Given the description of an element on the screen output the (x, y) to click on. 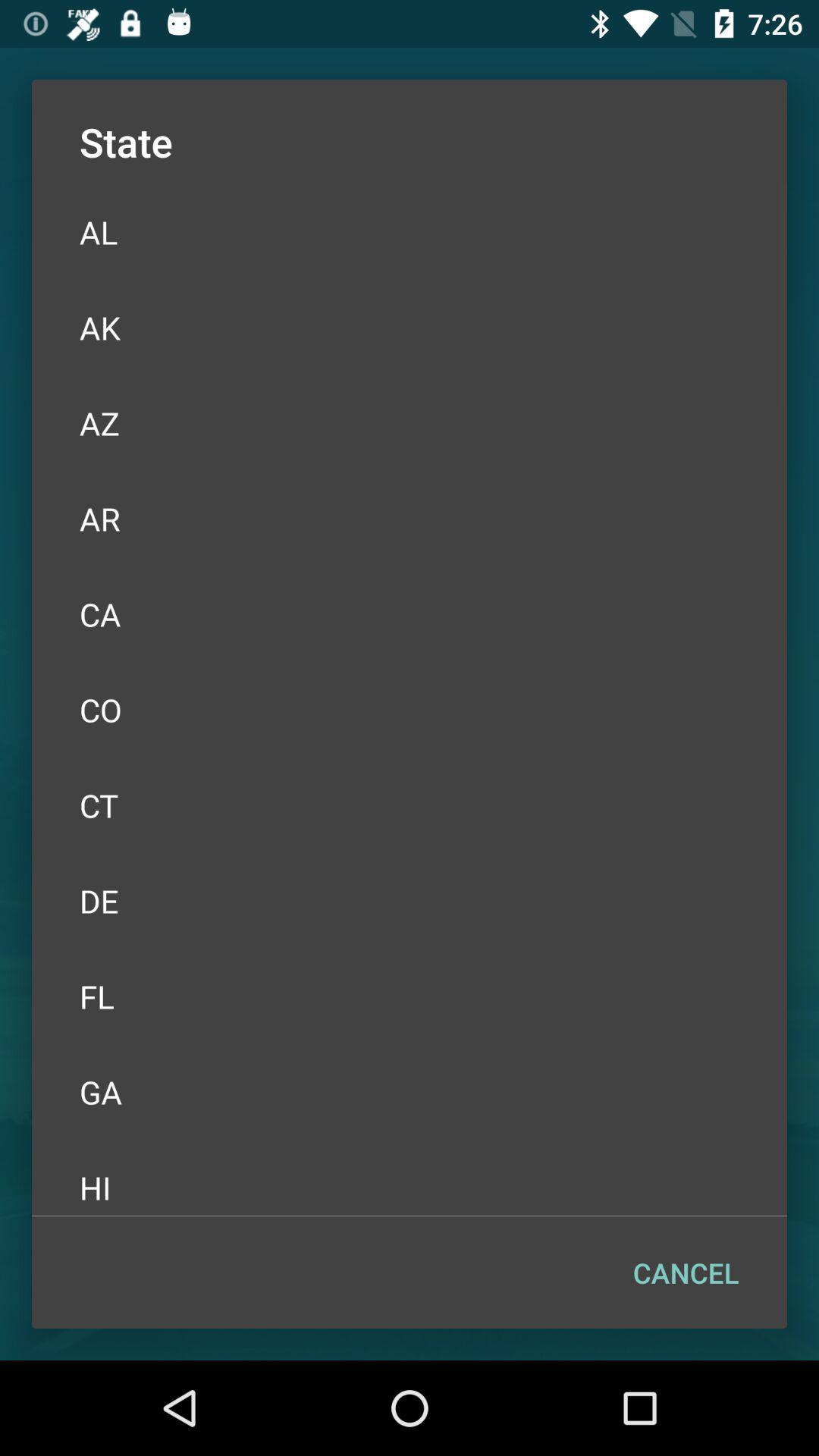
turn on the icon below the state item (409, 231)
